Given the description of an element on the screen output the (x, y) to click on. 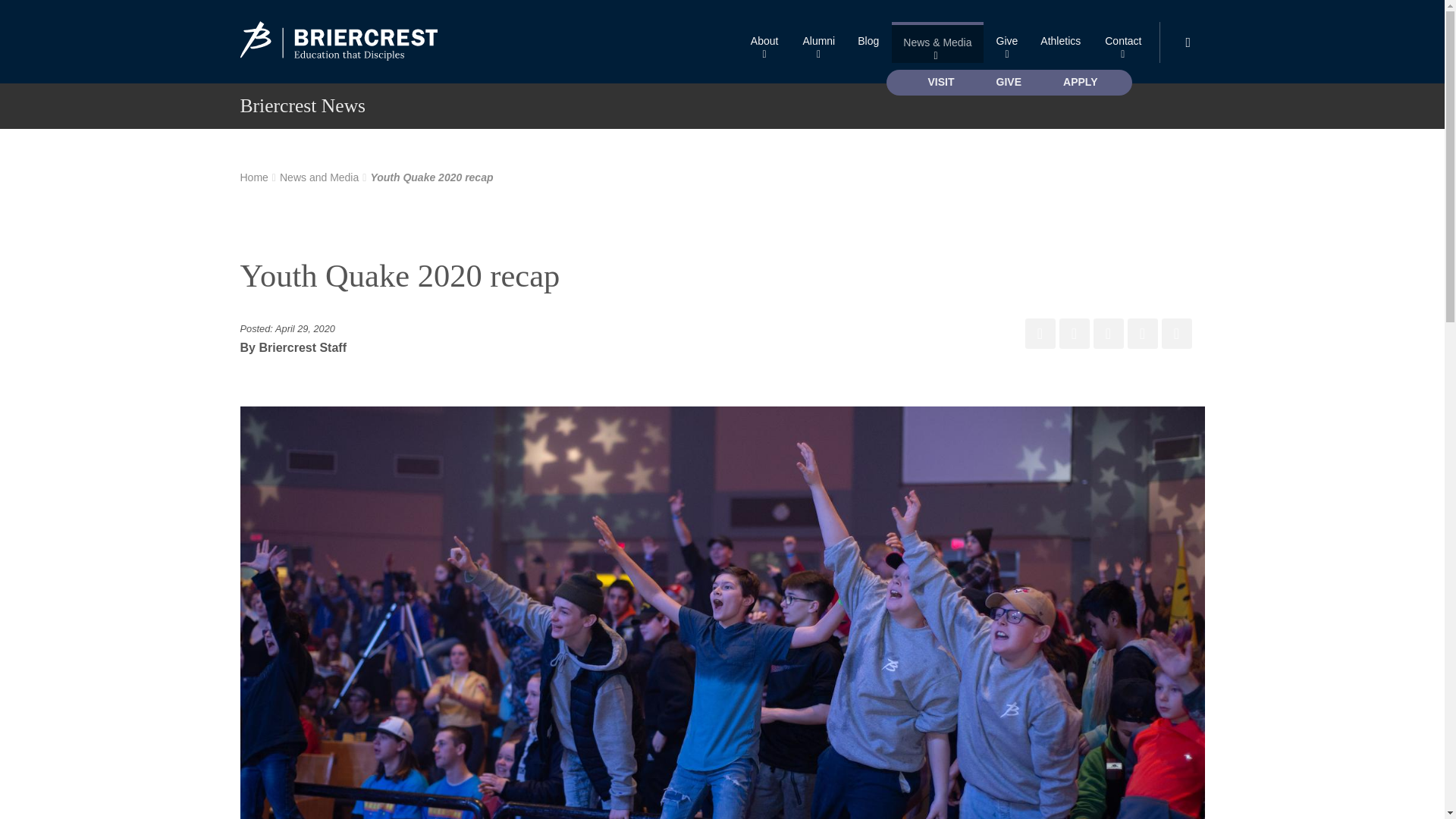
Contact (1123, 42)
Give (1008, 81)
About (764, 42)
Blog (867, 42)
Athletics (1060, 42)
Alumni (817, 42)
Visit (941, 81)
share this to LinkedIn (1141, 333)
Blog (867, 42)
Give (1007, 42)
Give (1007, 42)
About (764, 42)
share this to my Twitter account (1073, 333)
Alumni (817, 42)
email a link to this (1176, 333)
